Given the description of an element on the screen output the (x, y) to click on. 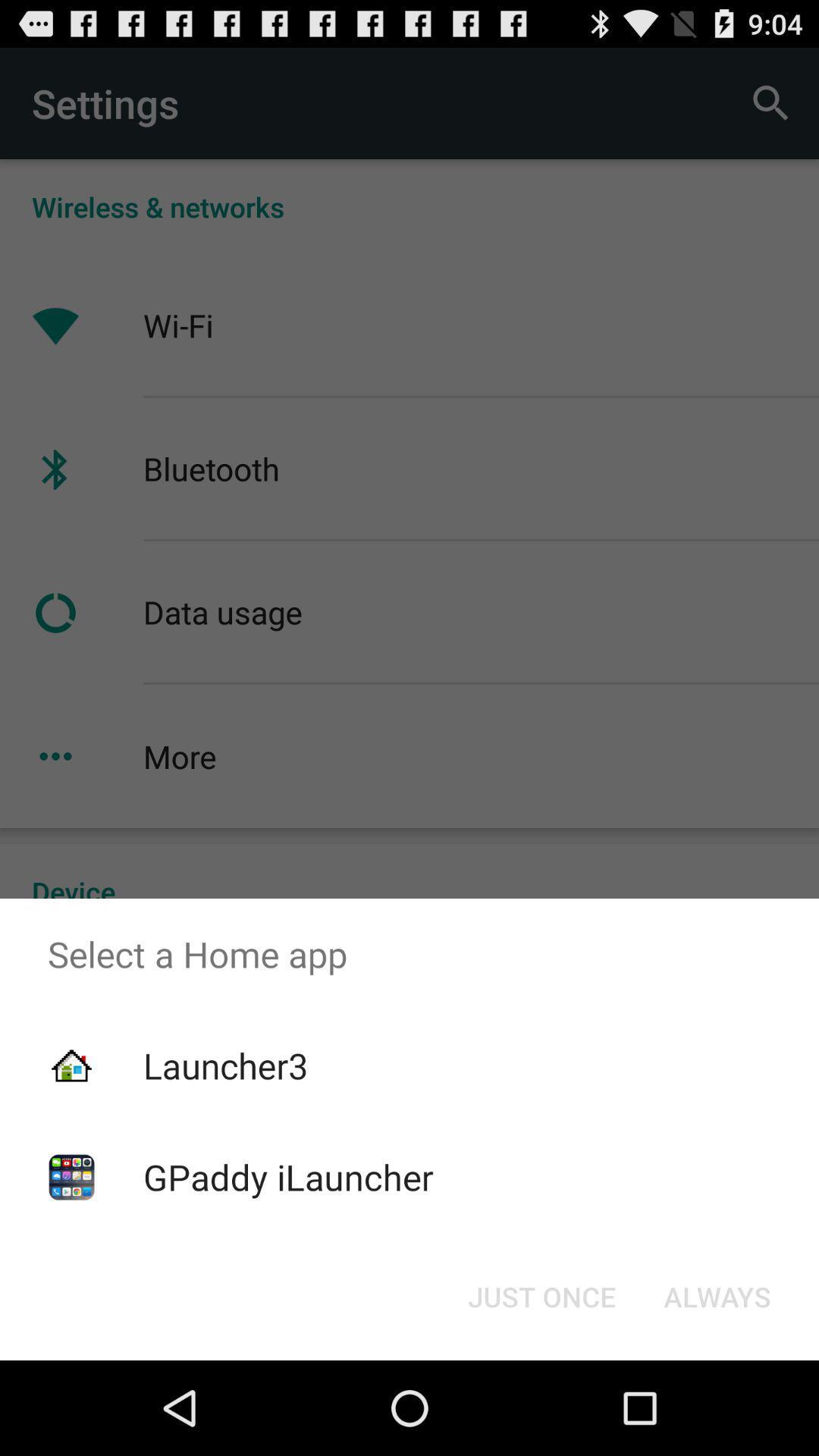
launch icon next to just once (717, 1296)
